Given the description of an element on the screen output the (x, y) to click on. 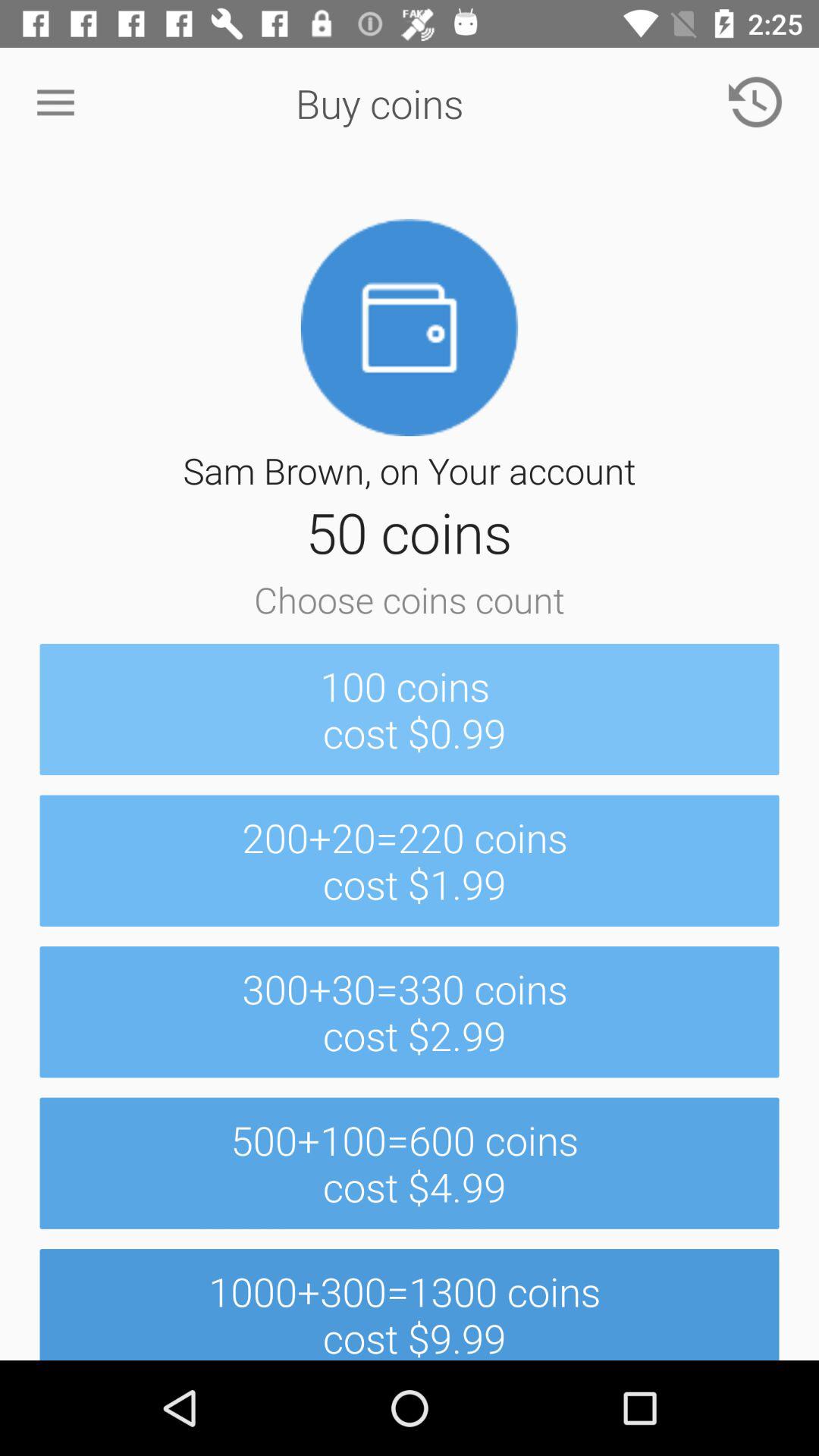
click the 200 20 220 icon (409, 860)
